Given the description of an element on the screen output the (x, y) to click on. 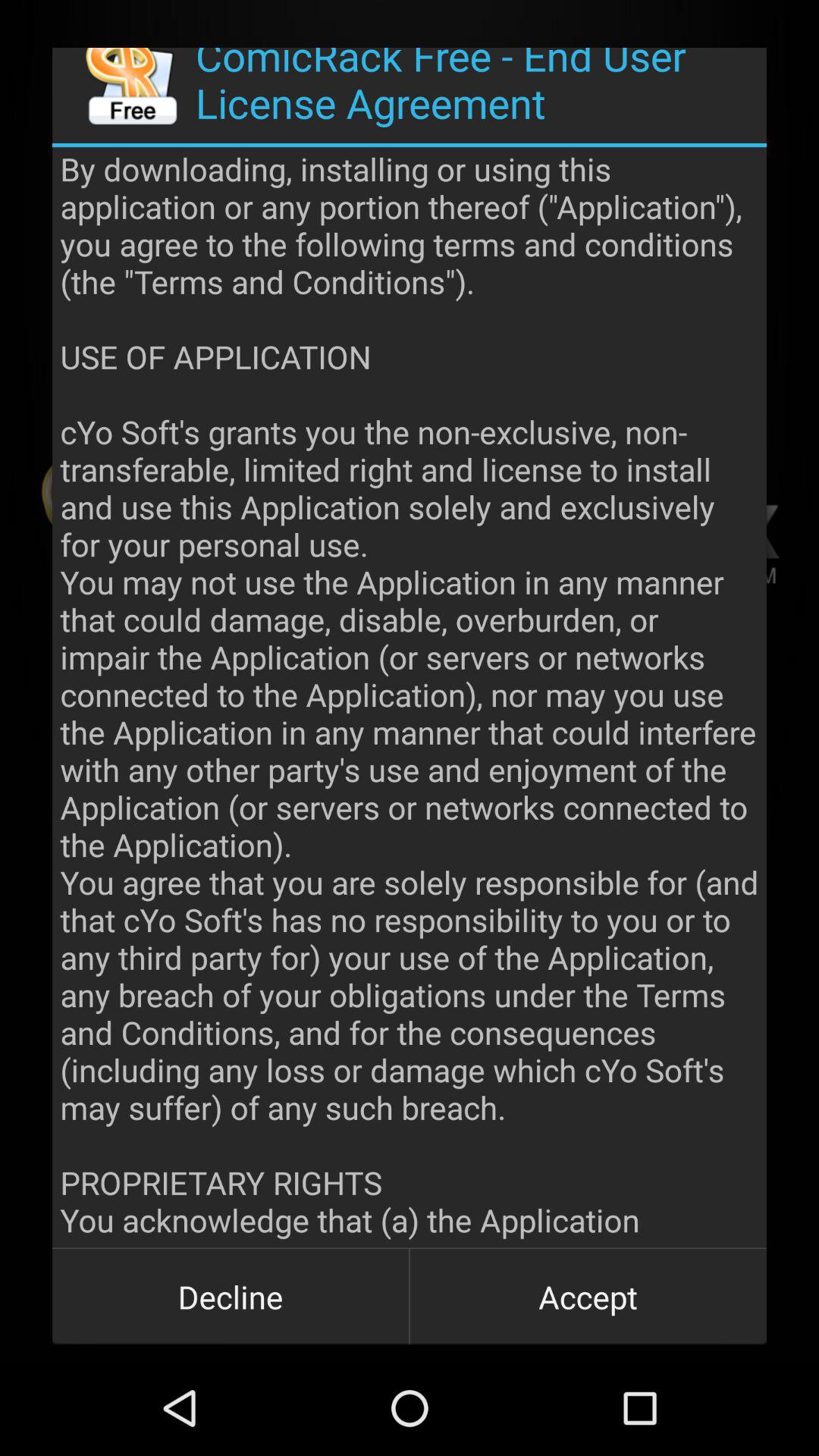
open item below the by downloading installing icon (588, 1296)
